Given the description of an element on the screen output the (x, y) to click on. 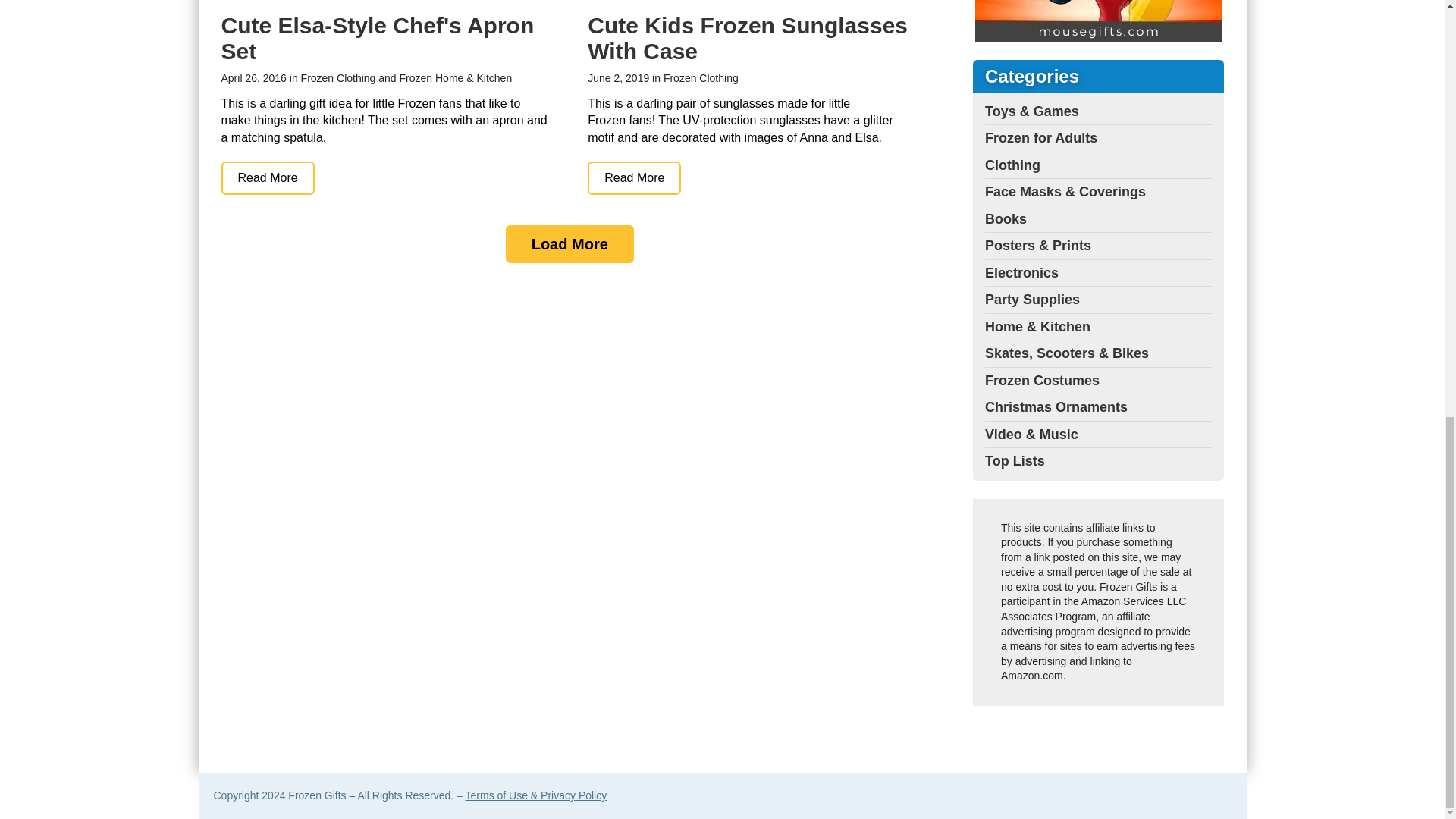
Cute Kids Frozen Sunglasses With Case (634, 177)
Cute Kids Frozen Sunglasses With Case (747, 38)
Read More (634, 177)
Frozen Clothing (338, 78)
Frozen Clothing (700, 78)
Cute Elsa-Style Chef's Apron Set (377, 38)
Load More (569, 243)
Cute Elsa-Style Chef's Apron Set (267, 177)
Read More (267, 177)
